Given the description of an element on the screen output the (x, y) to click on. 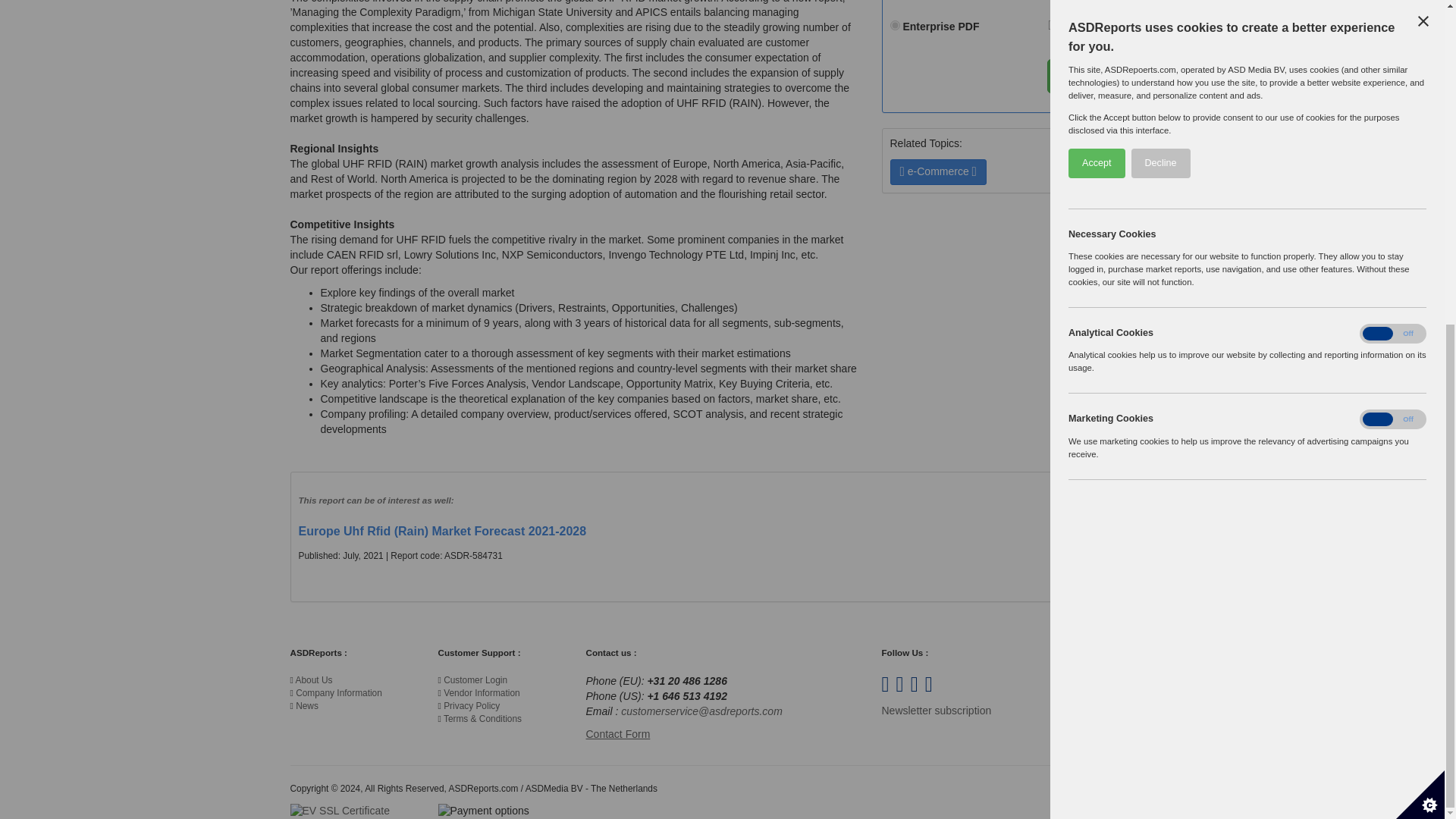
xprice2 (894, 25)
Company Information (338, 692)
About Us - ASDReports (314, 679)
